Given the description of an element on the screen output the (x, y) to click on. 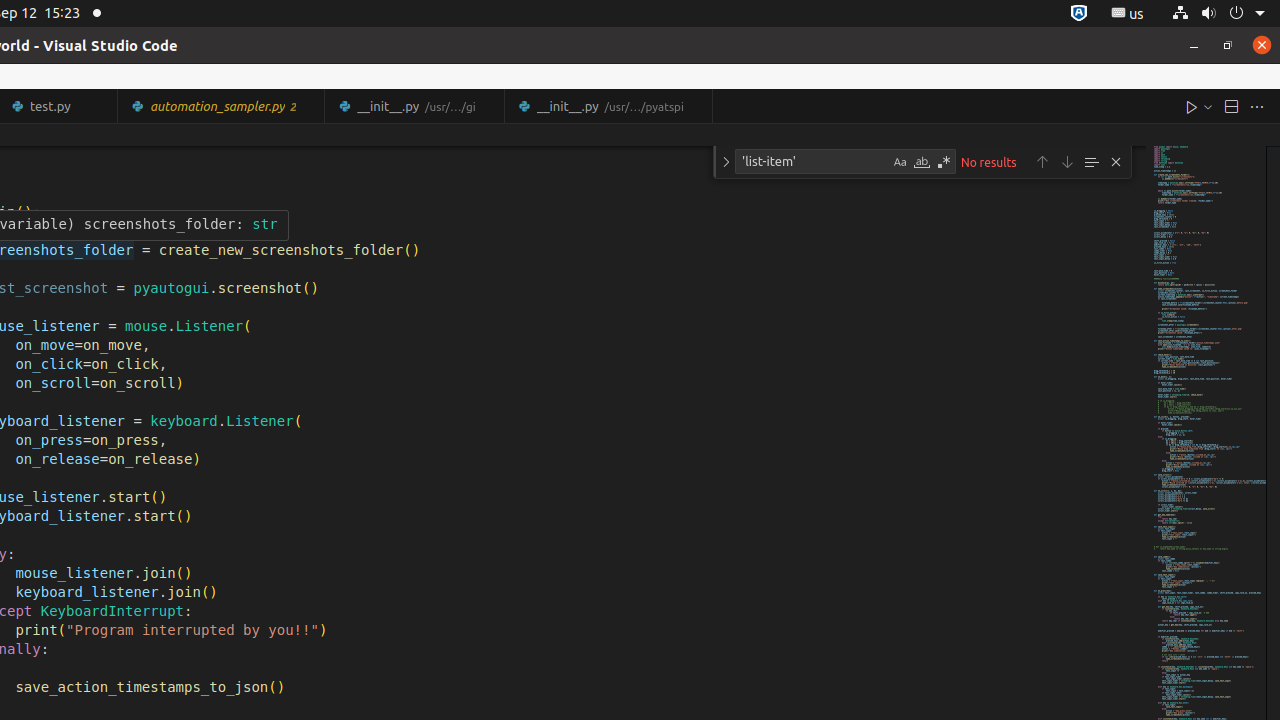
Run or Debug... Element type: push-button (1208, 106)
Next Match (Enter) Element type: push-button (1067, 161)
Find in Selection (Alt+L) Element type: check-box (1091, 161)
automation_sampler.py, preview Element type: page-tab (222, 106)
